Given the description of an element on the screen output the (x, y) to click on. 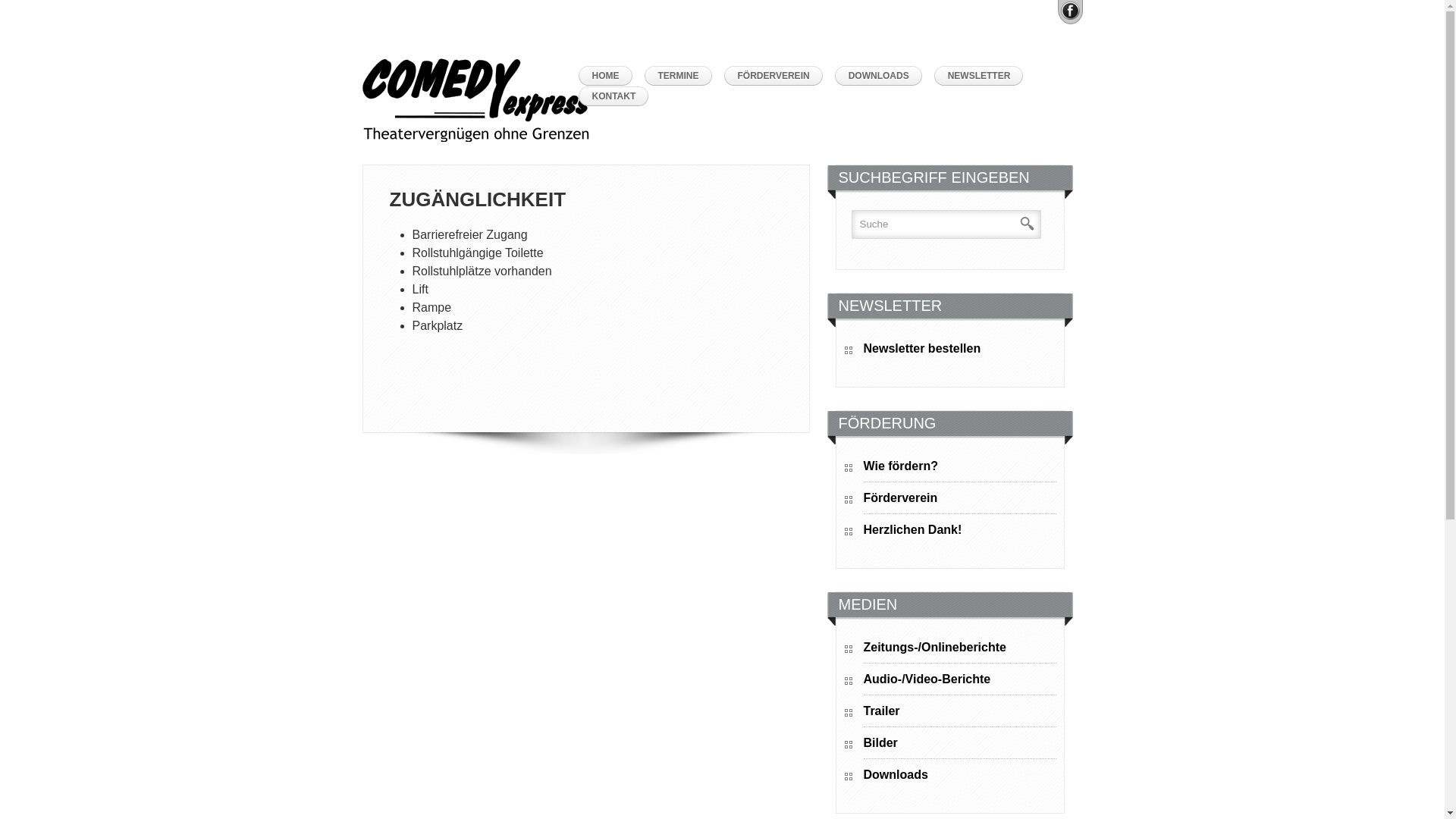
Newsletter bestellen Element type: text (958, 351)
Trailer Element type: text (958, 713)
Herzlichen Dank! Element type: text (958, 532)
Bilder Element type: text (958, 745)
KONTAKT Element type: text (617, 96)
HOME Element type: text (608, 75)
Zeitungs-/Onlineberichte Element type: text (958, 650)
Search Element type: text (1026, 223)
Share on Facebook Element type: hover (1069, 10)
DOWNLOADS Element type: text (882, 75)
Audio-/Video-Berichte Element type: text (958, 681)
Downloads Element type: text (958, 777)
TERMINE Element type: text (682, 75)
NEWSLETTER Element type: text (982, 75)
